Given the description of an element on the screen output the (x, y) to click on. 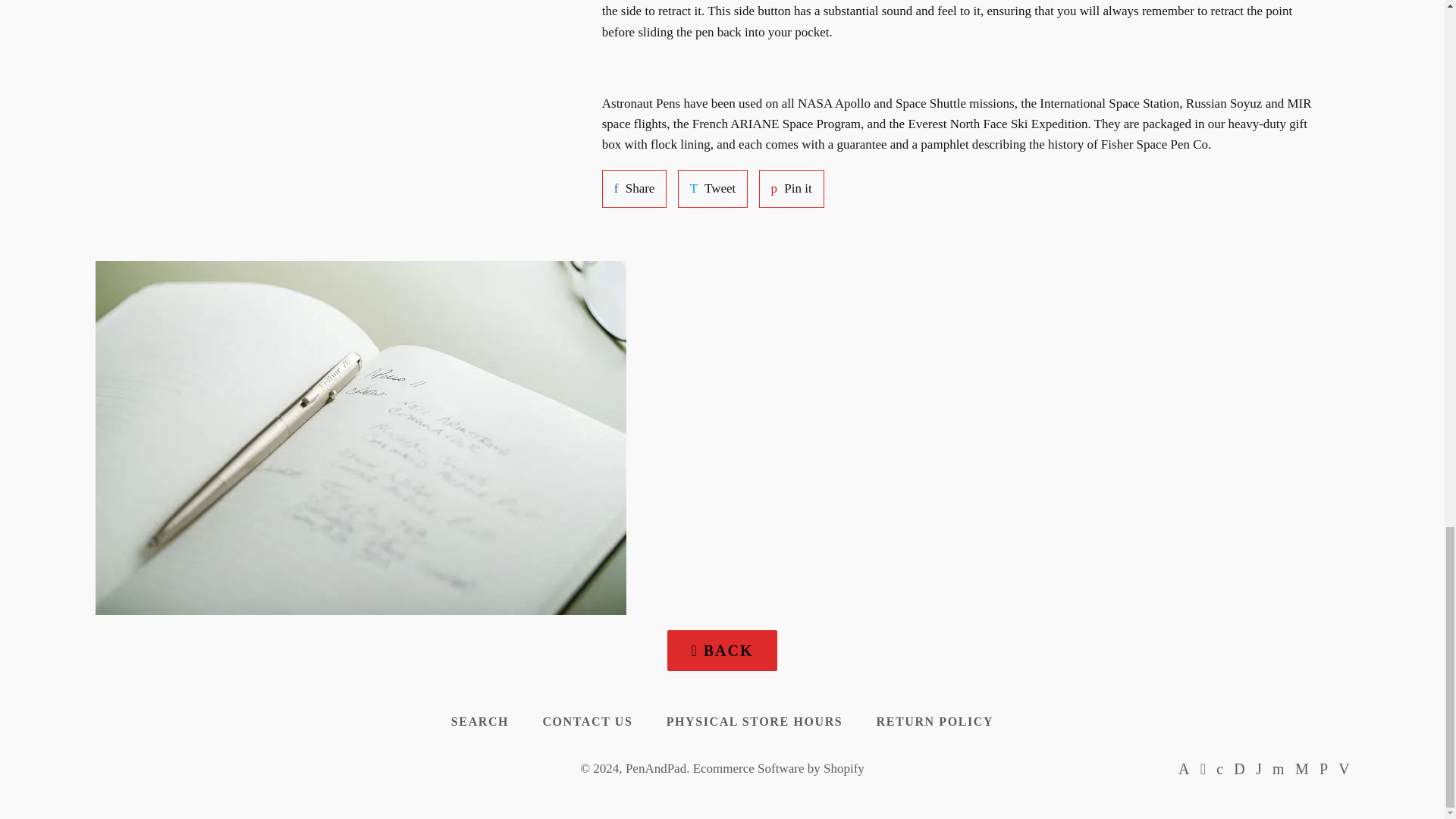
CONTACT US (587, 721)
BACK (721, 649)
PHYSICAL STORE HOURS (754, 721)
Tweet on Twitter (713, 188)
Share on Facebook (713, 188)
SEARCH (791, 188)
Pin on Pinterest (634, 188)
